Given the description of an element on the screen output the (x, y) to click on. 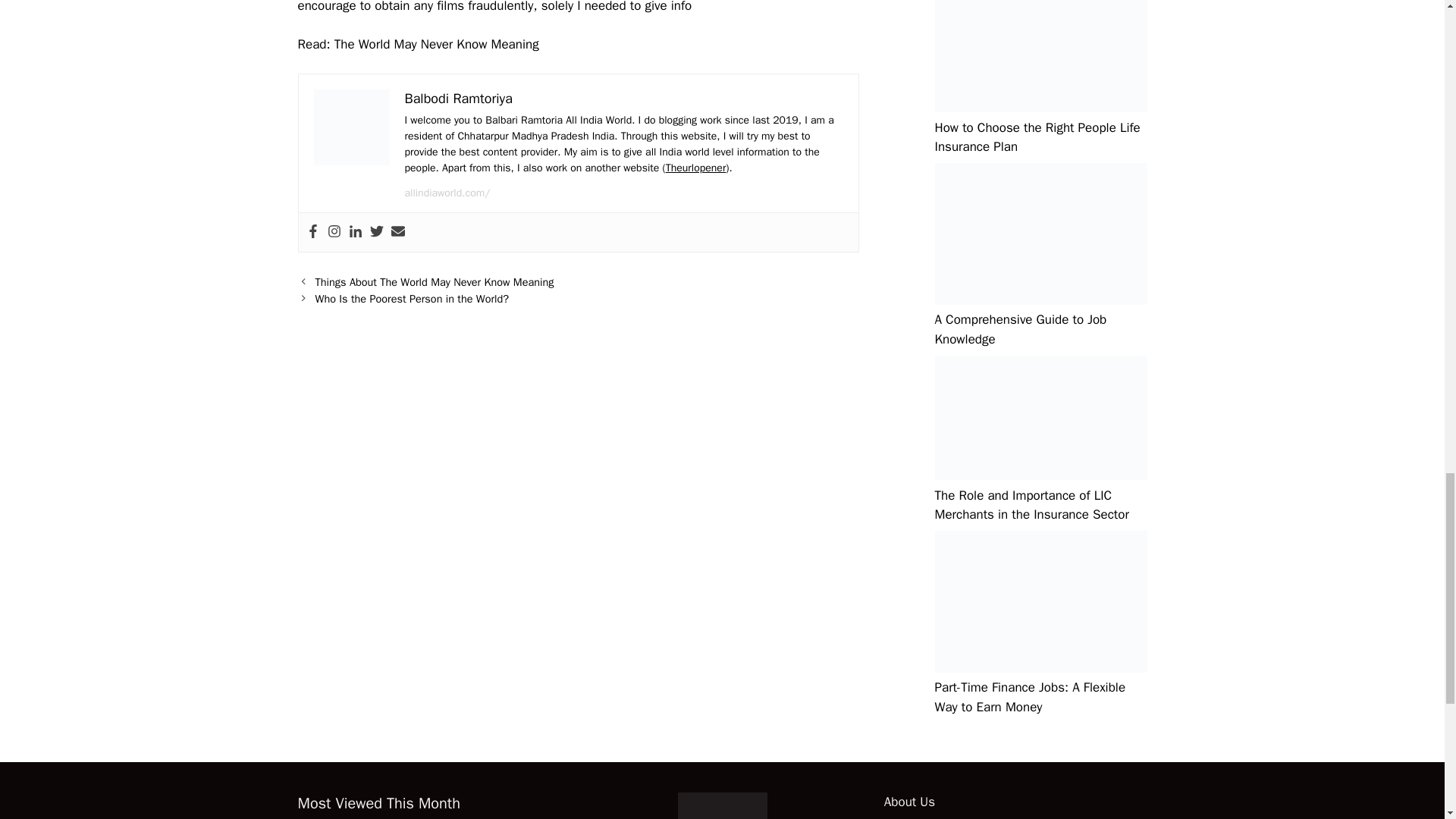
Theurlopener (695, 167)
How to Choose the Right People Life Insurance Plan (1037, 137)
A Comprehensive Guide to Job Knowledge (1020, 329)
Things About The World May Never Know Meaning (434, 282)
Balbodi Ramtoriya (458, 98)
Part-Time Finance Jobs: A Flexible Way to Earn Money (1029, 696)
Who Is the Poorest Person in the World? (411, 298)
The World May Never Know Meaning (436, 44)
